Given the description of an element on the screen output the (x, y) to click on. 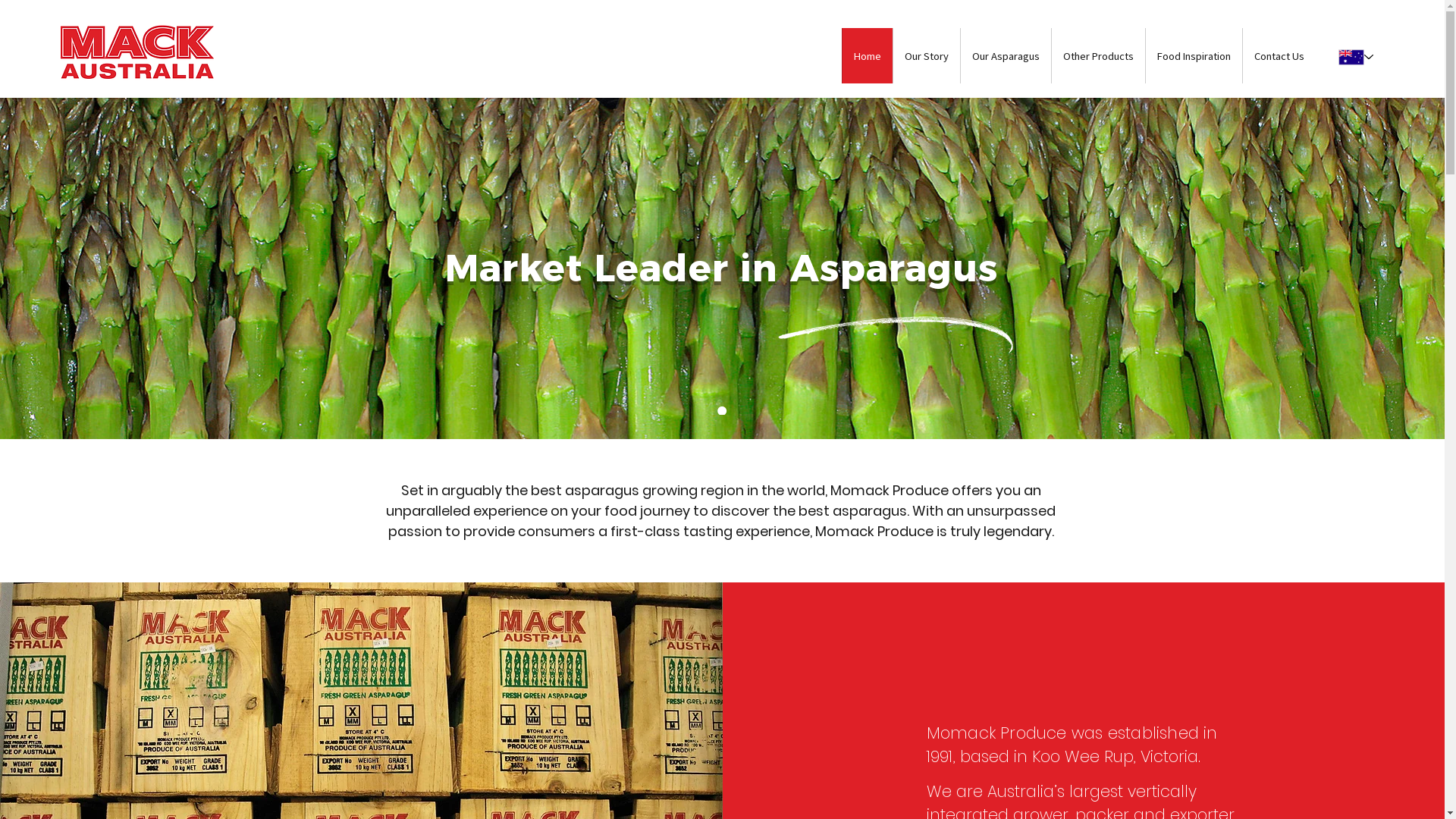
Food Inspiration Element type: text (1193, 55)
Other Products Element type: text (1098, 55)
Our Asparagus Element type: text (1005, 55)
Contact Us Element type: text (1278, 55)
Our Story Element type: text (926, 55)
Home Element type: text (866, 55)
